Given the description of an element on the screen output the (x, y) to click on. 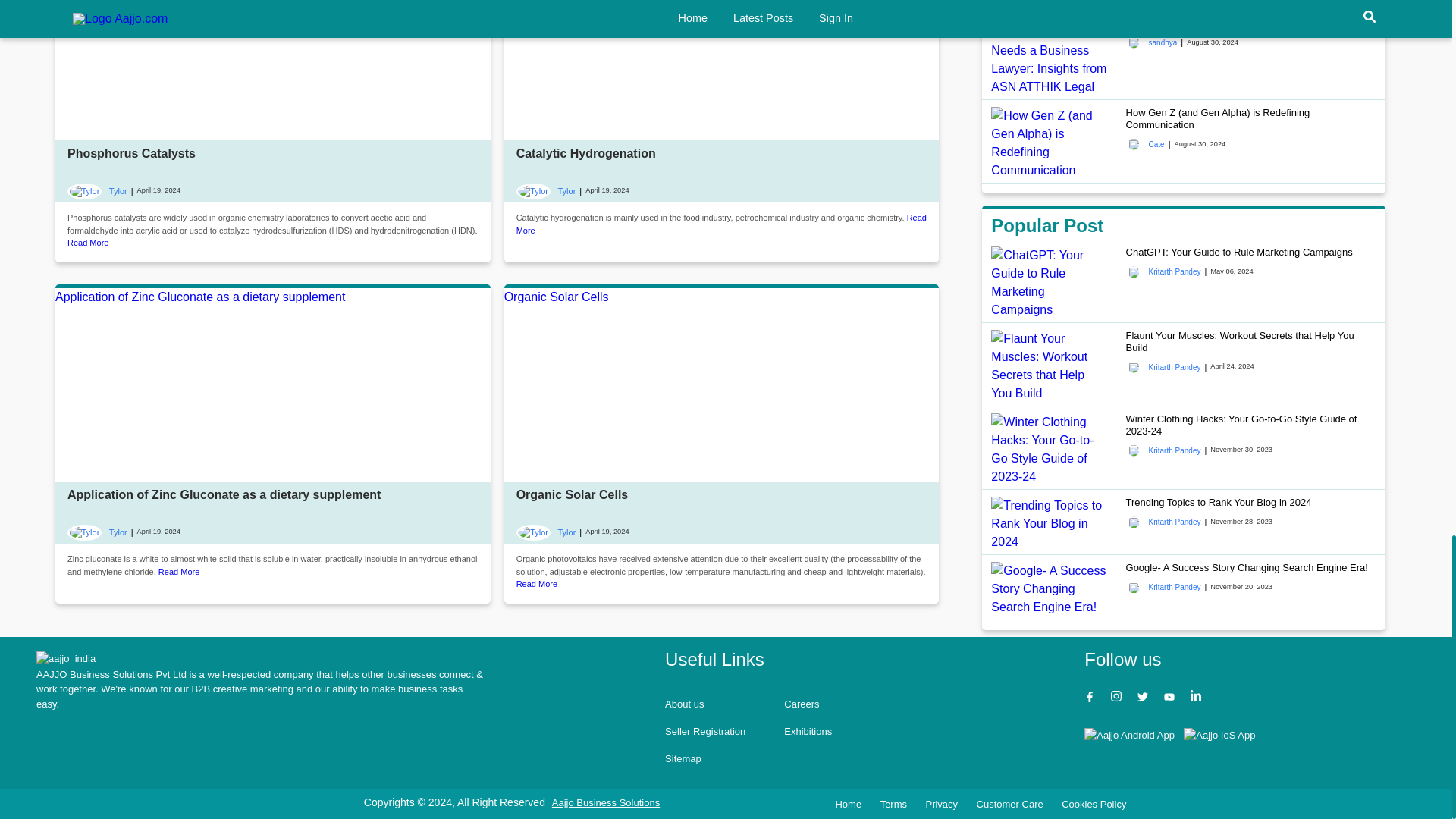
Linkedin (1198, 698)
Application of Zinc Gluconate as a dietary supplement (272, 386)
Catalytic Hydrogenation (586, 153)
Phosphorus Catalysts (272, 72)
Read More (86, 242)
Read More (721, 223)
twitter (1144, 698)
Tylor (546, 191)
About us (684, 704)
youtube (1170, 698)
